Given the description of an element on the screen output the (x, y) to click on. 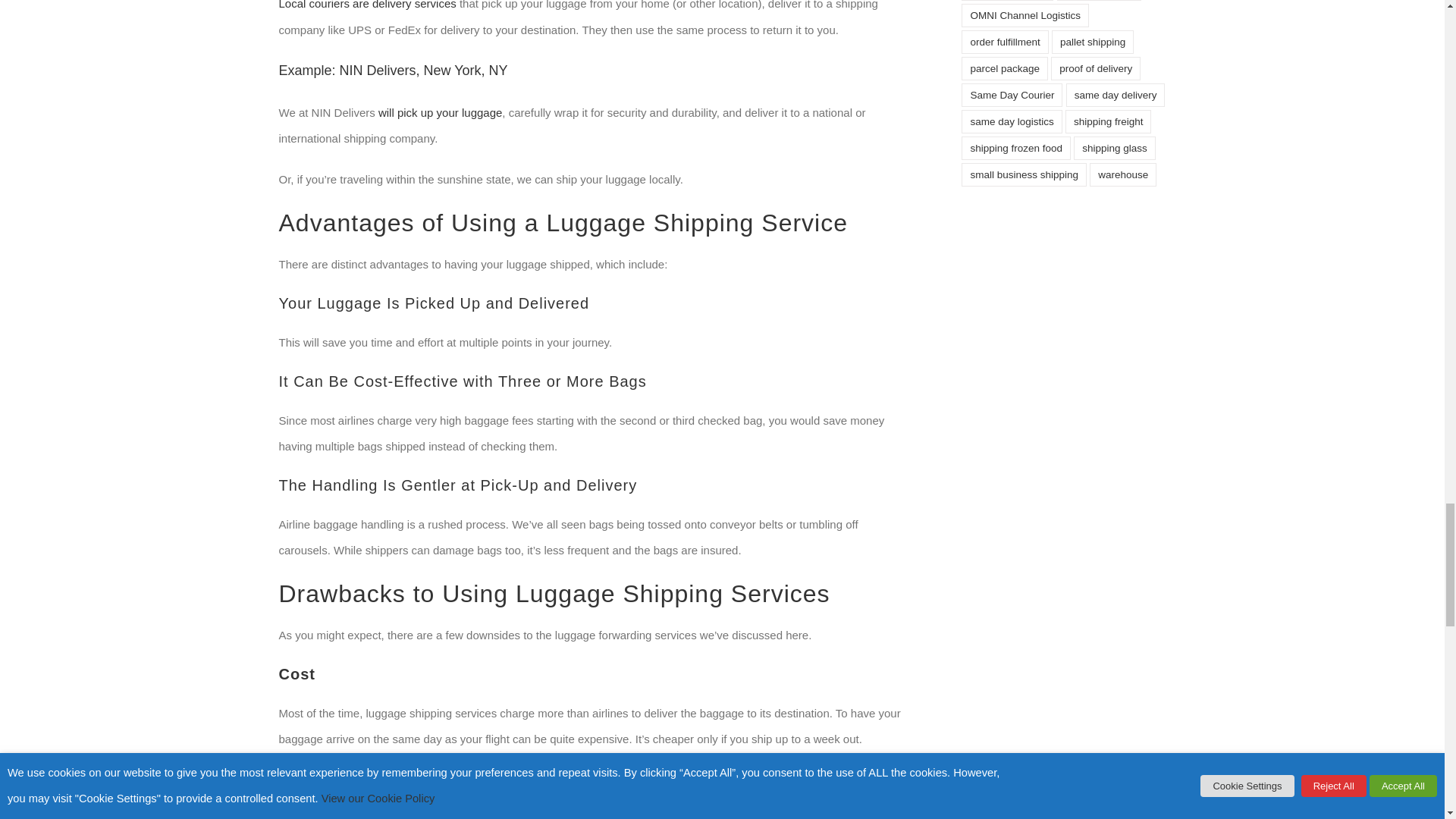
will pick up your luggage (440, 112)
Local couriers are delivery services (368, 4)
